Given the description of an element on the screen output the (x, y) to click on. 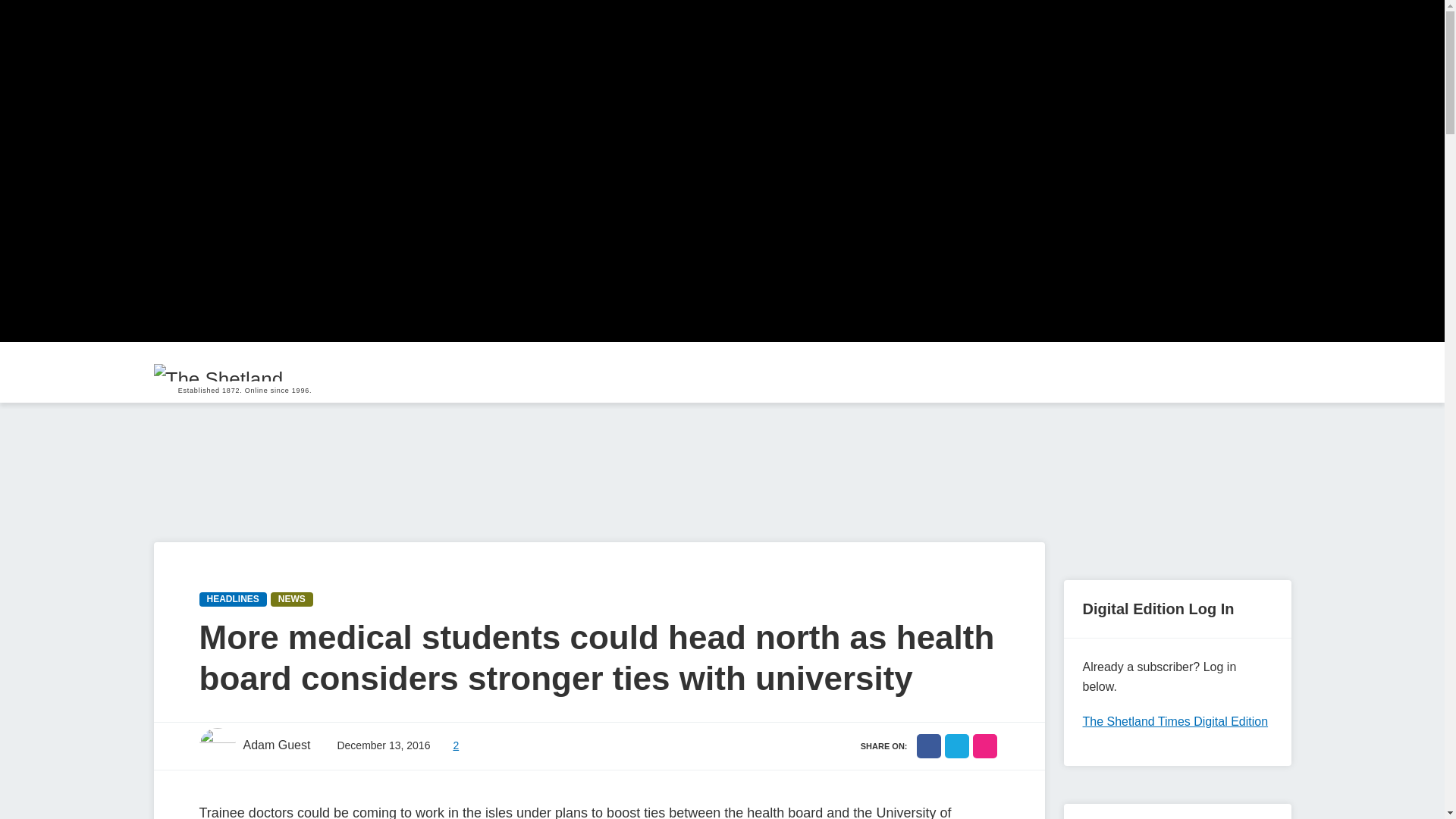
Adam Guest (254, 746)
NEWS (291, 599)
HEADLINES (232, 599)
Established 1872. Online since 1996. (244, 372)
